Given the description of an element on the screen output the (x, y) to click on. 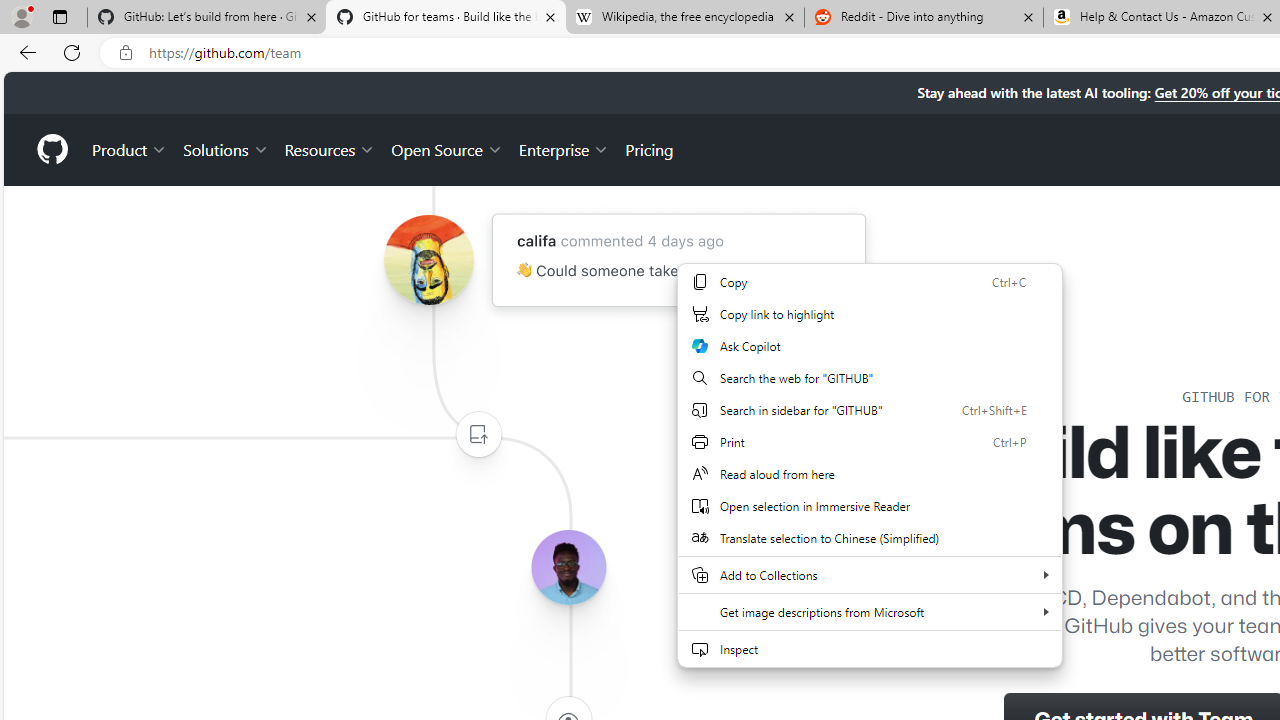
Solutions (225, 148)
Translate selection to Chinese (Simplified) (870, 537)
Class: color-fg-muted width-full (478, 434)
Product (130, 148)
Search the web for "GITHUB" (870, 377)
Ask Copilot (870, 345)
Open Source (446, 148)
Print (870, 441)
Inspect (870, 648)
Open selection in Immersive Reader (870, 506)
Enterprise (563, 148)
